Given the description of an element on the screen output the (x, y) to click on. 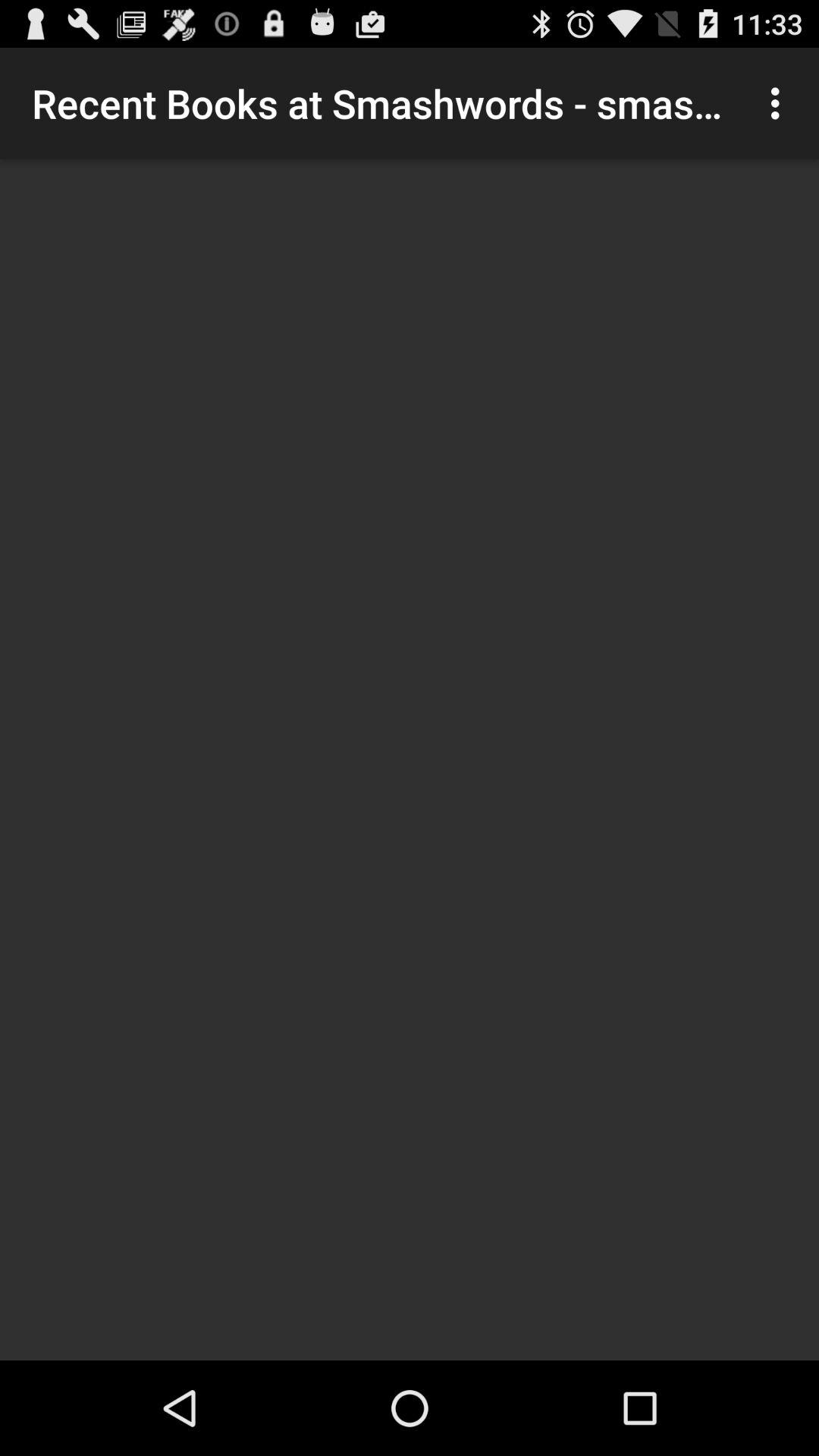
press the item at the top right corner (779, 103)
